Given the description of an element on the screen output the (x, y) to click on. 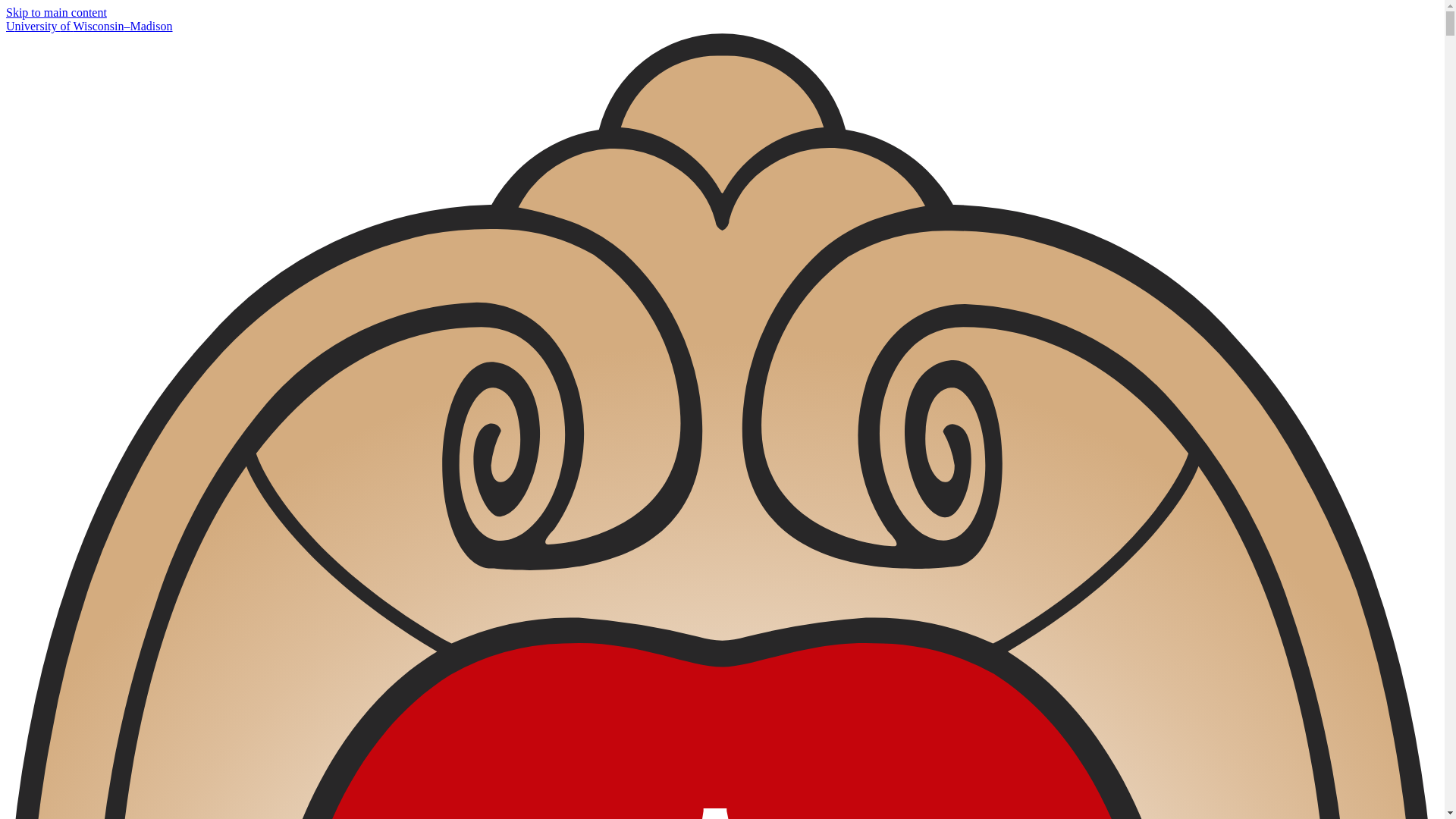
Skip to main content (55, 11)
